Given the description of an element on the screen output the (x, y) to click on. 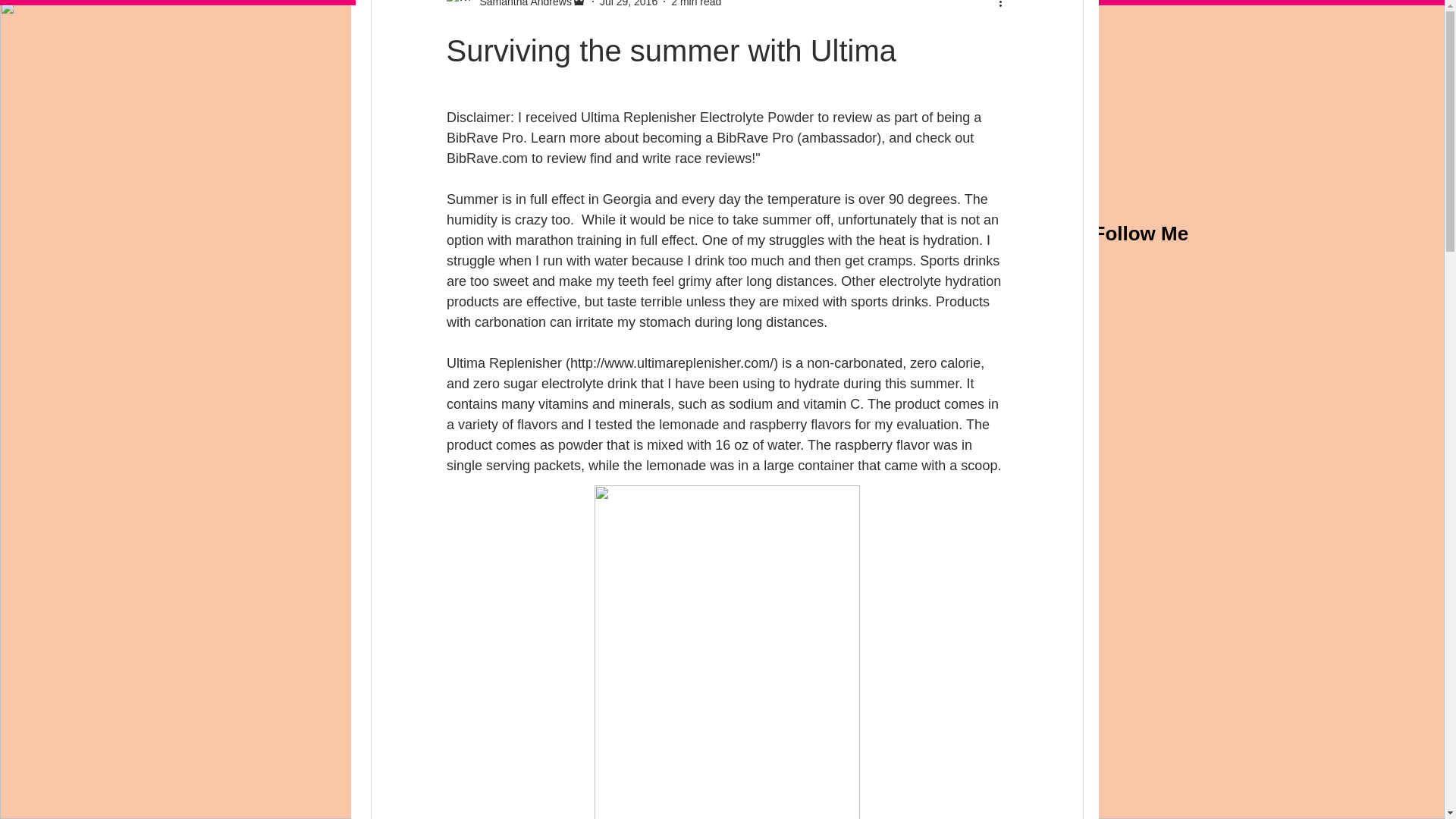
Twitter Follow (1148, 453)
Race Resume (933, 16)
2 min read (695, 3)
Samantha Andrews (520, 4)
Running Resources (825, 16)
Blog (499, 16)
50 States Jouney (707, 16)
2024 Race Schedule (586, 16)
Jul 29, 2016 (628, 3)
